Given the description of an element on the screen output the (x, y) to click on. 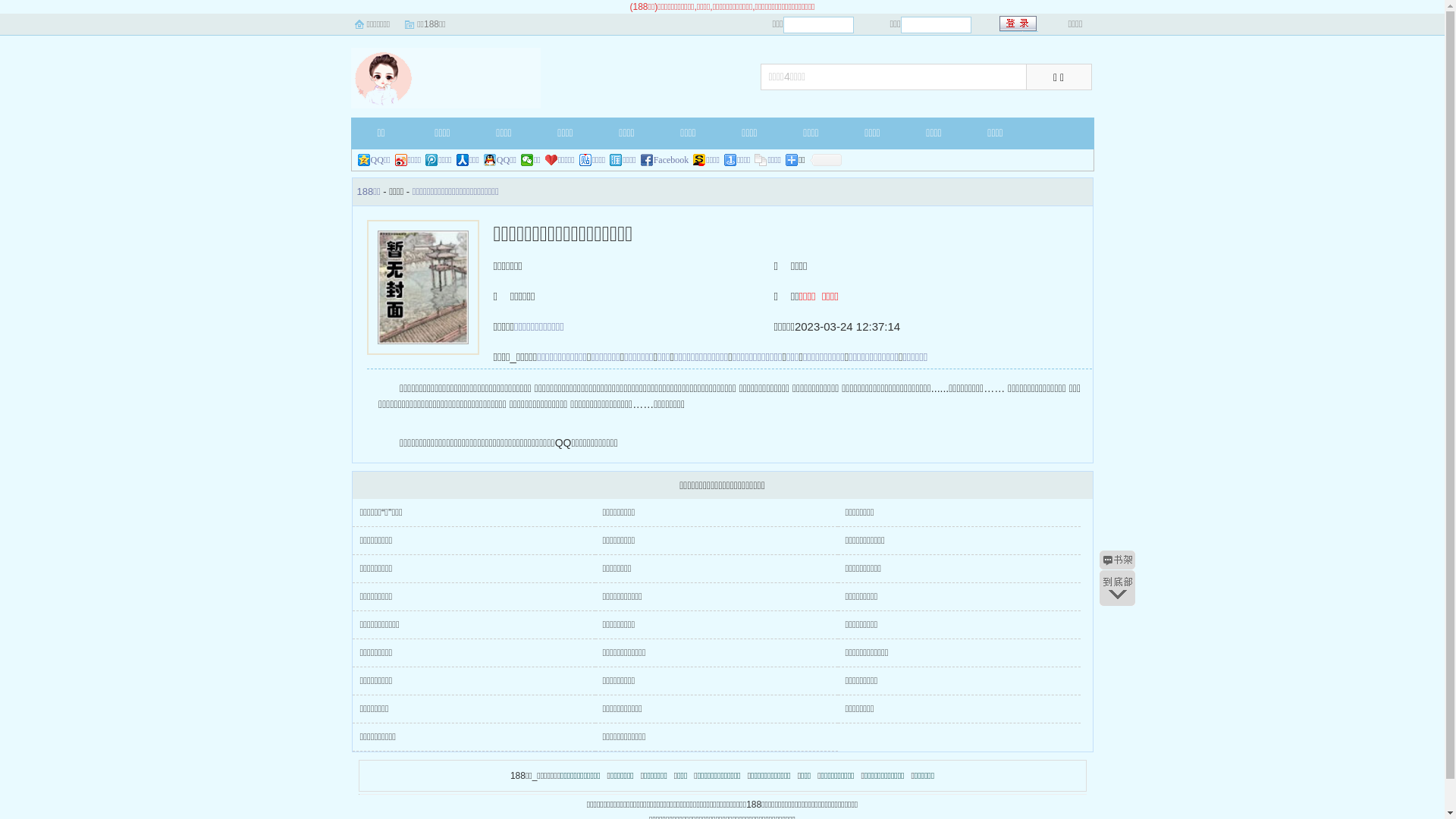
Facebook Element type: text (664, 159)
